Given the description of an element on the screen output the (x, y) to click on. 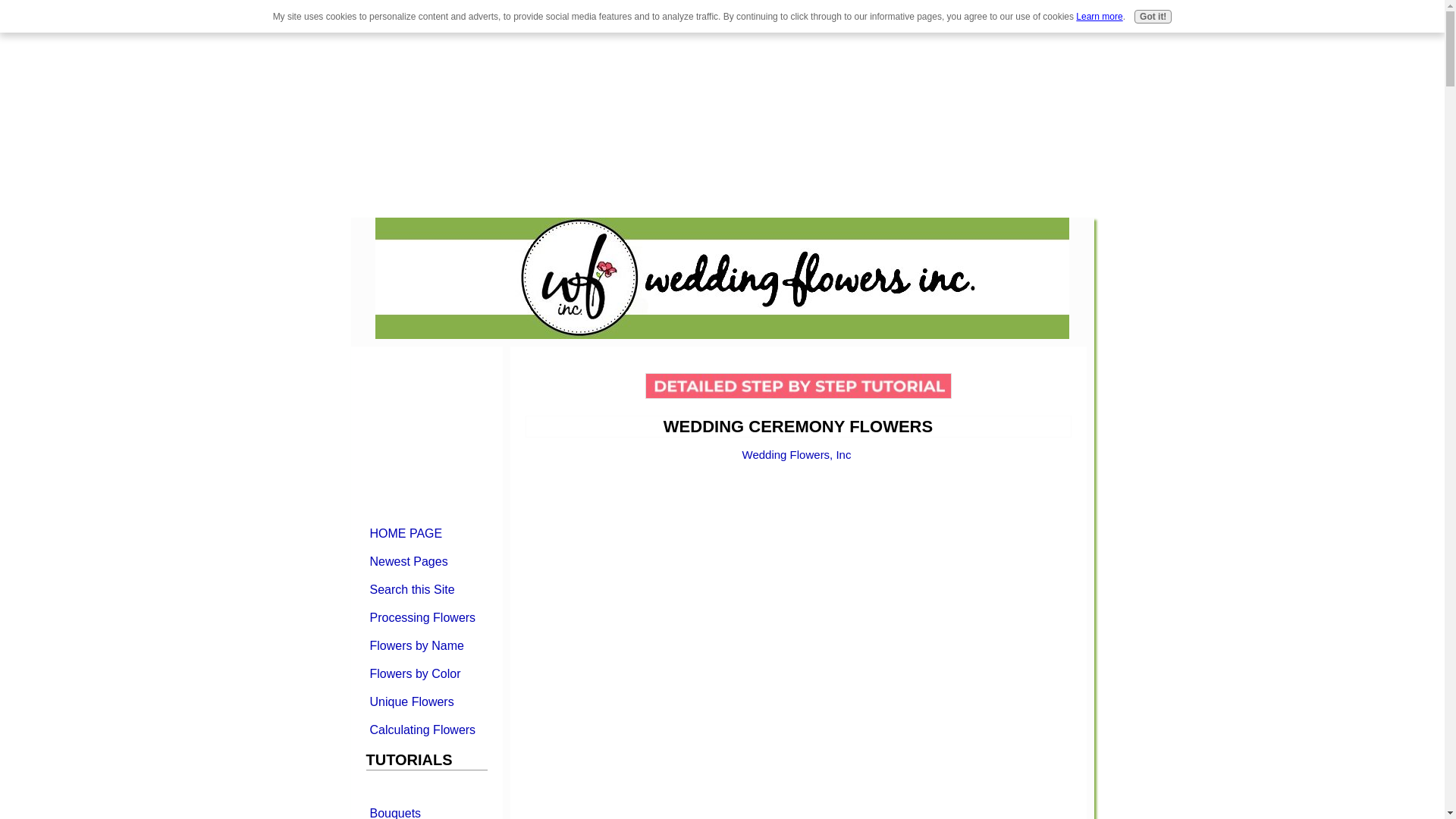
Flowers by Color (425, 673)
Wedding Flowers, Inc (796, 454)
Newest Pages (425, 561)
Search this Site (425, 588)
Advertisement (127, 106)
Unique Flowers (425, 701)
Bouquets (425, 809)
HOME PAGE (425, 533)
Calculating Flowers (425, 729)
Processing Flowers (425, 617)
Flowers by Name (425, 645)
